Given the description of an element on the screen output the (x, y) to click on. 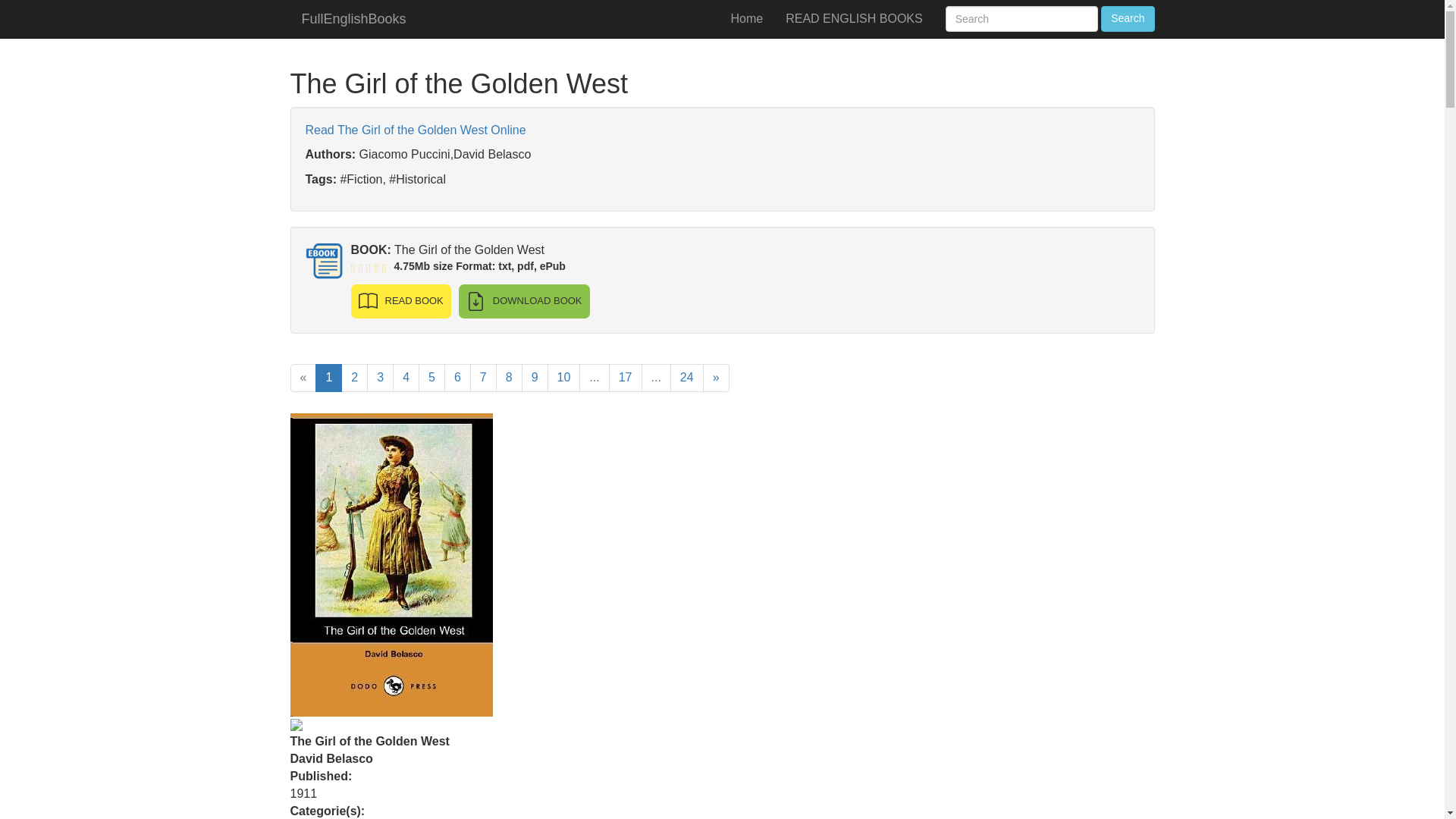
1 (328, 377)
2 (354, 377)
8 (509, 377)
10 (563, 377)
4 (406, 377)
Search (1127, 18)
9 (534, 377)
17 (625, 377)
READ ENGLISH BOOKS (854, 18)
24 (686, 377)
